Given the description of an element on the screen output the (x, y) to click on. 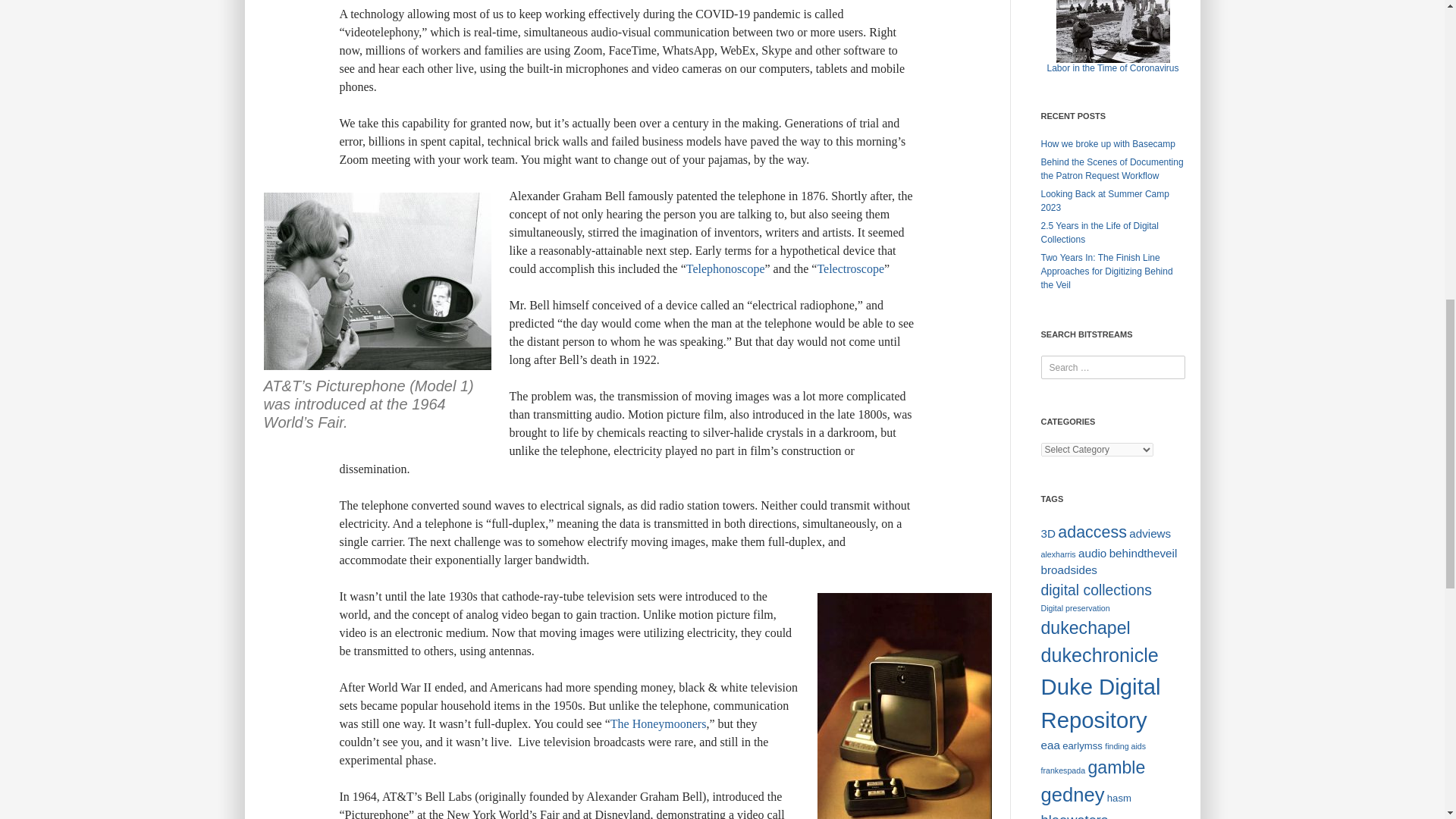
Telectroscope (849, 268)
How we broke up with Basecamp (1107, 143)
3D (1047, 533)
Behind the Scenes of Documenting the Patron Request Workflow (1111, 168)
alexharris (1058, 553)
Labor in the Time of Coronavirus (1111, 68)
adviews (1149, 533)
audio (1092, 553)
Looking Back at Summer Camp 2023 (1105, 200)
The Honeymooners (658, 723)
2.5 Years in the Life of Digital Collections (1099, 232)
Telephonoscope (725, 268)
behindtheveil (1143, 553)
adaccess (1092, 532)
